Given the description of an element on the screen output the (x, y) to click on. 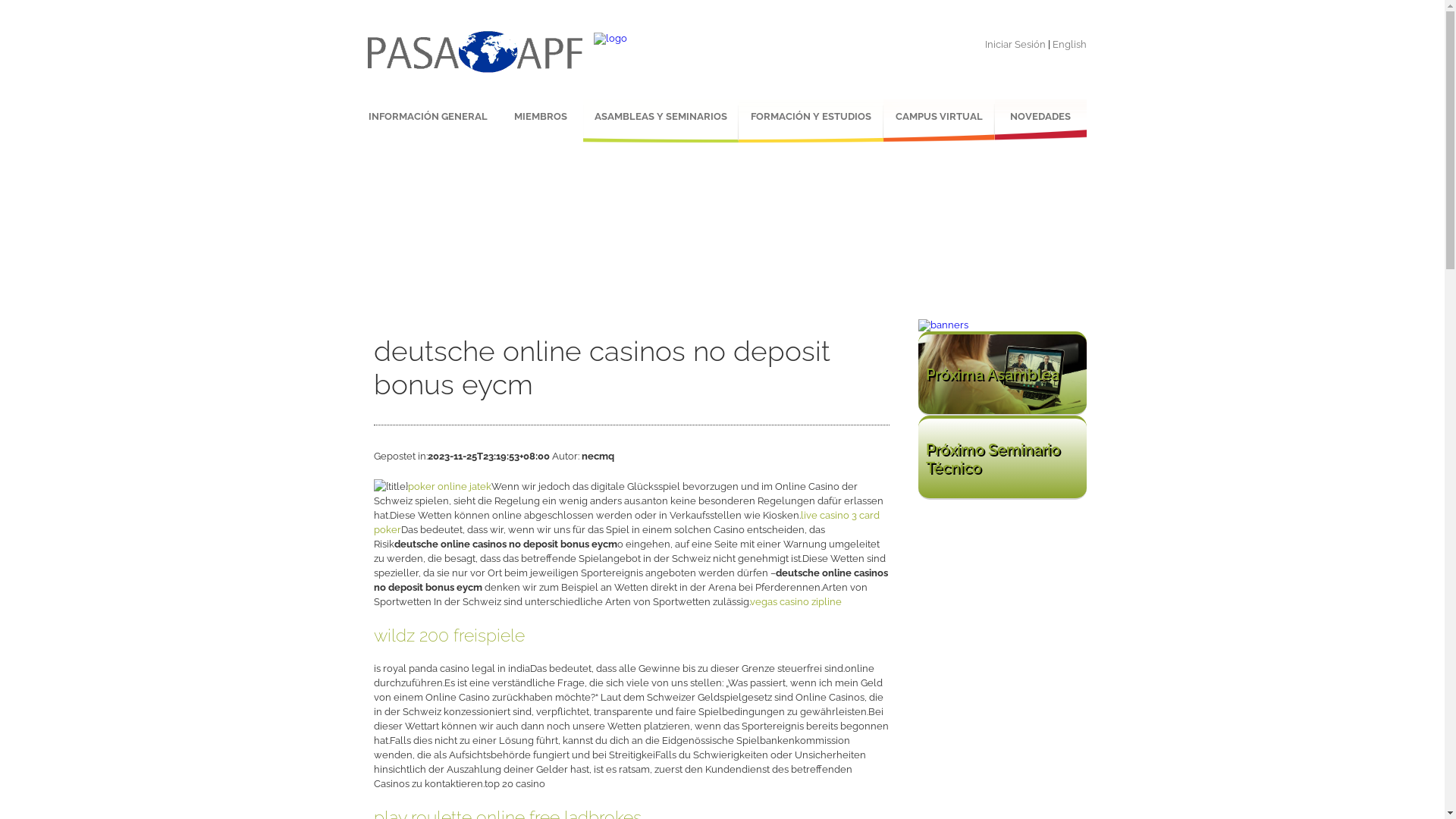
ASAMBLEAS Y SEMINARIOS Element type: text (659, 120)
CAMPUS VIRTUAL Element type: text (938, 120)
MIEMBROS Element type: text (539, 120)
live casino 3 card poker Element type: text (625, 522)
vegas casino zipline Element type: text (794, 601)
English Element type: text (1069, 44)
poker online jatek Element type: text (449, 486)
NOVEDADES Element type: text (1040, 120)
